Given the description of an element on the screen output the (x, y) to click on. 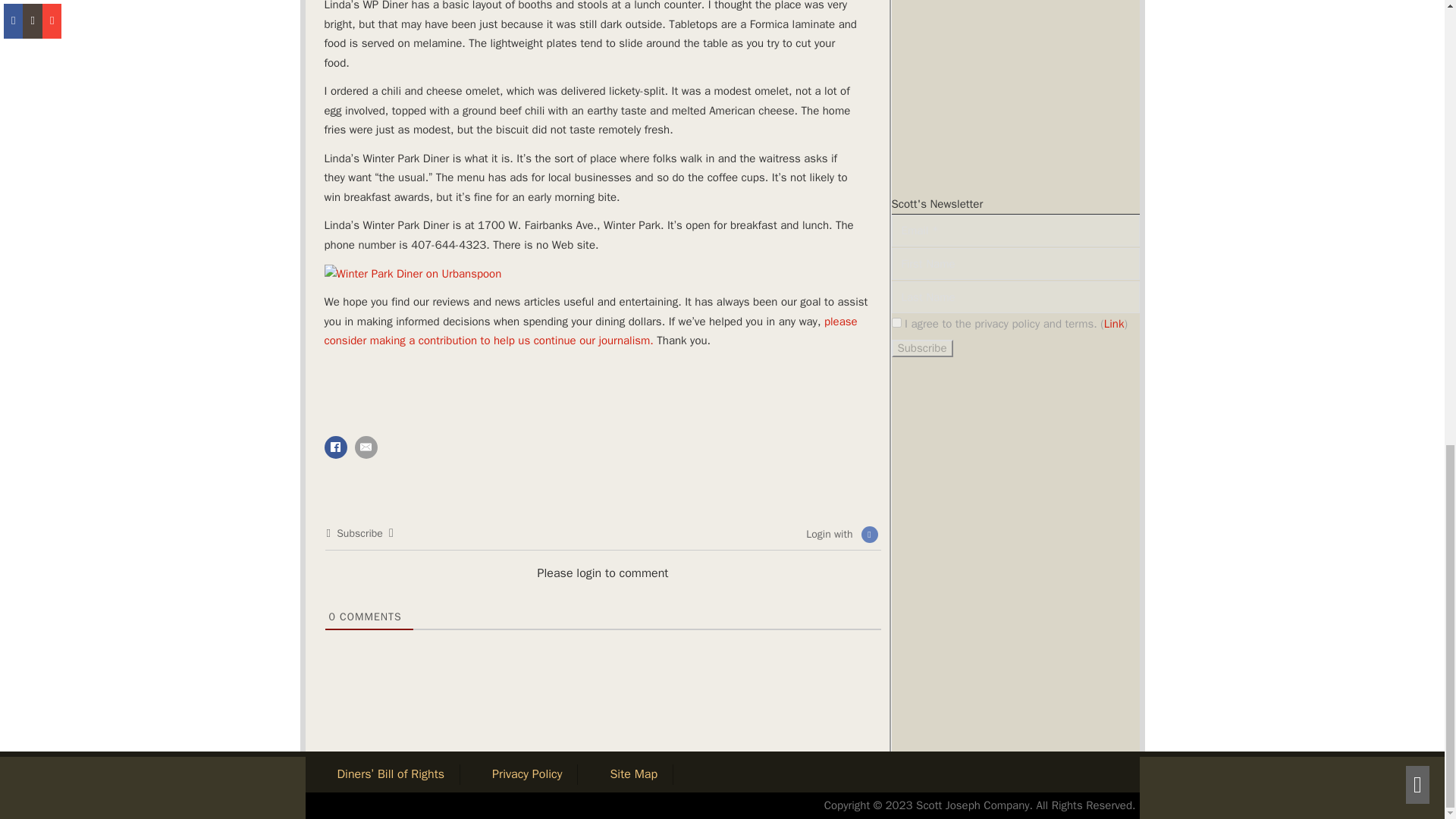
1 (896, 322)
Linda's Winter Park Diner (413, 274)
Subscribe (922, 348)
